Given the description of an element on the screen output the (x, y) to click on. 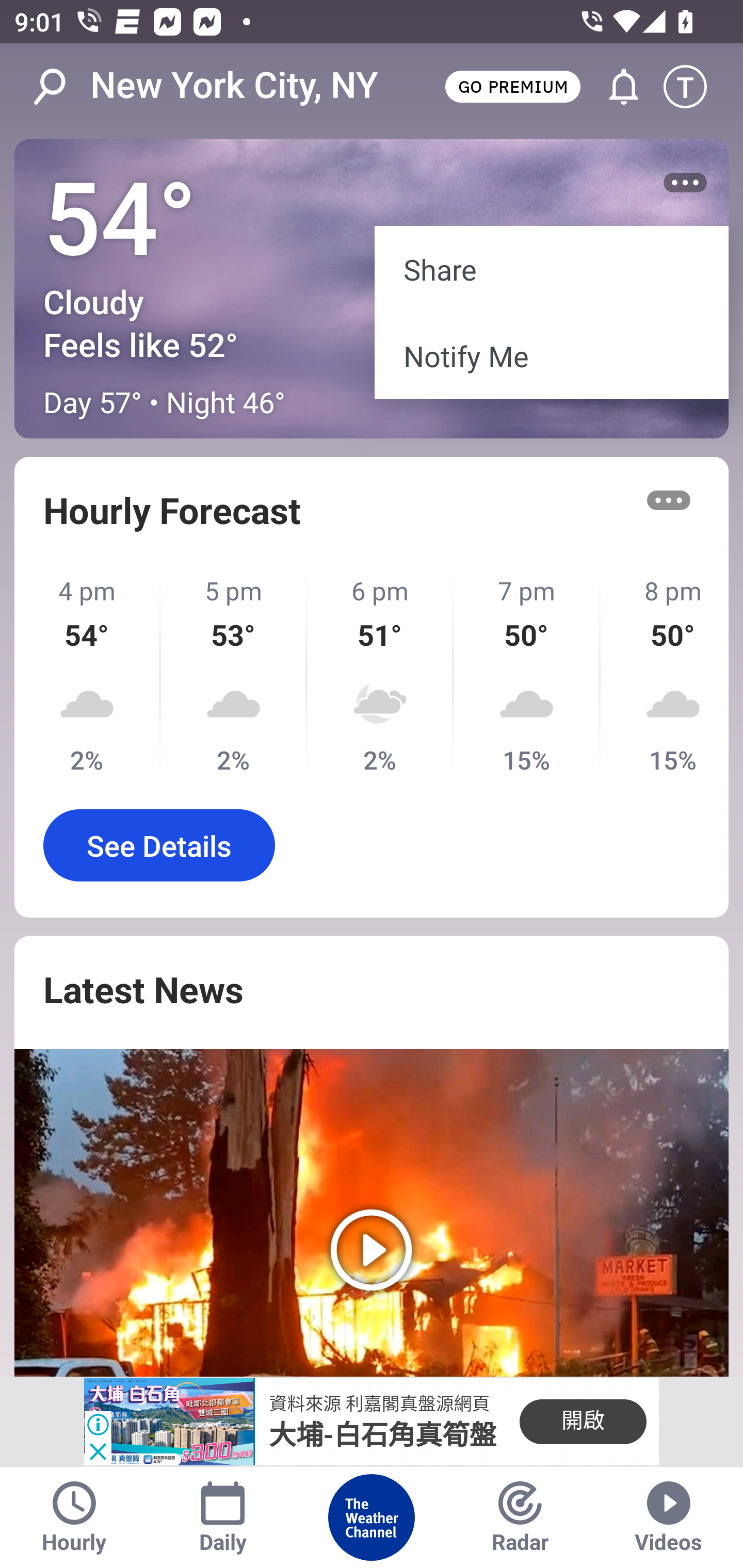
Share (551, 268)
Notify Me (551, 355)
